Given the description of an element on the screen output the (x, y) to click on. 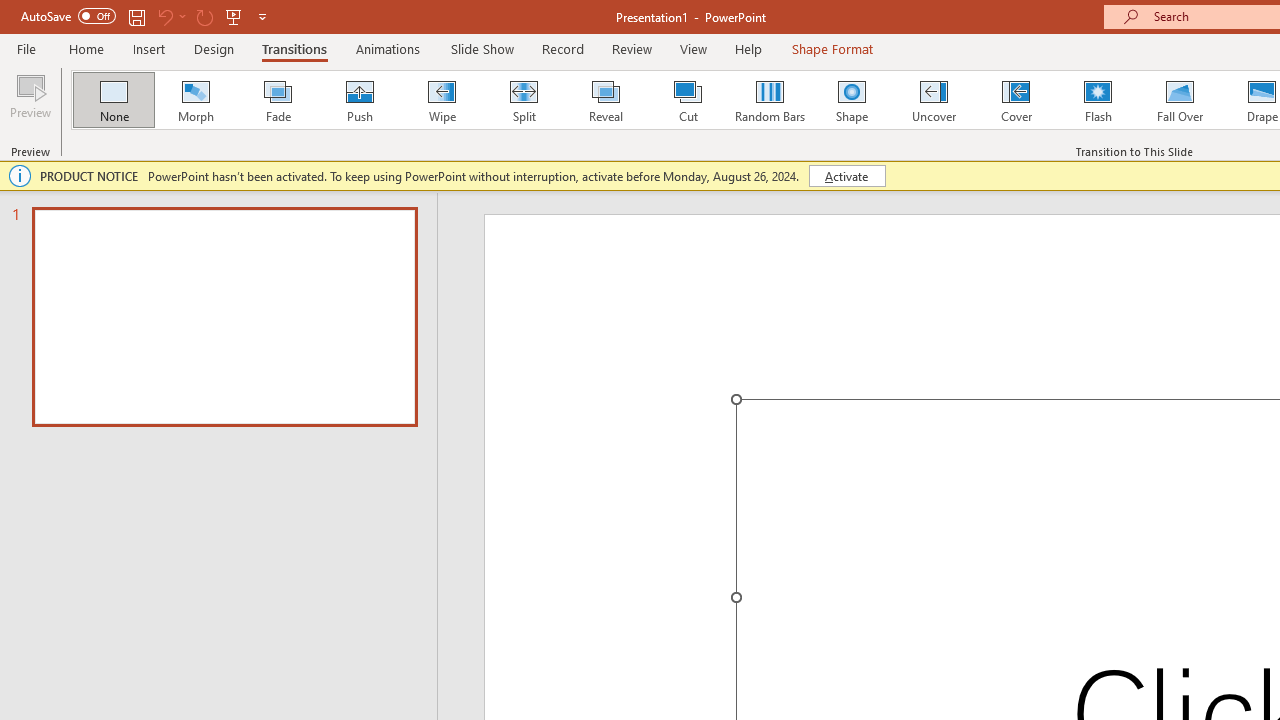
Morph (195, 100)
Fall Over (1180, 100)
Fade (277, 100)
Split (523, 100)
